Given the description of an element on the screen output the (x, y) to click on. 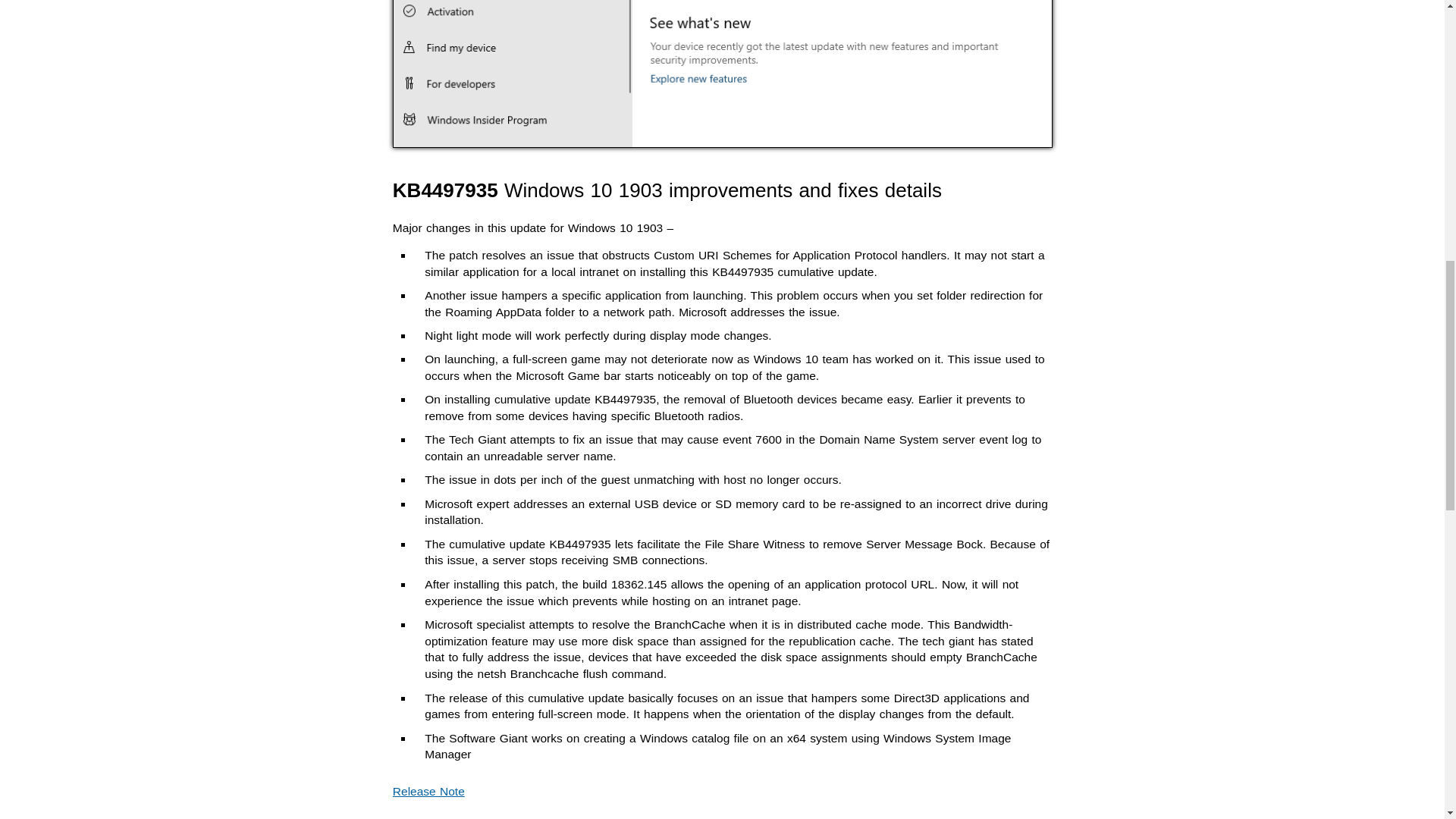
Release Note (428, 790)
